Given the description of an element on the screen output the (x, y) to click on. 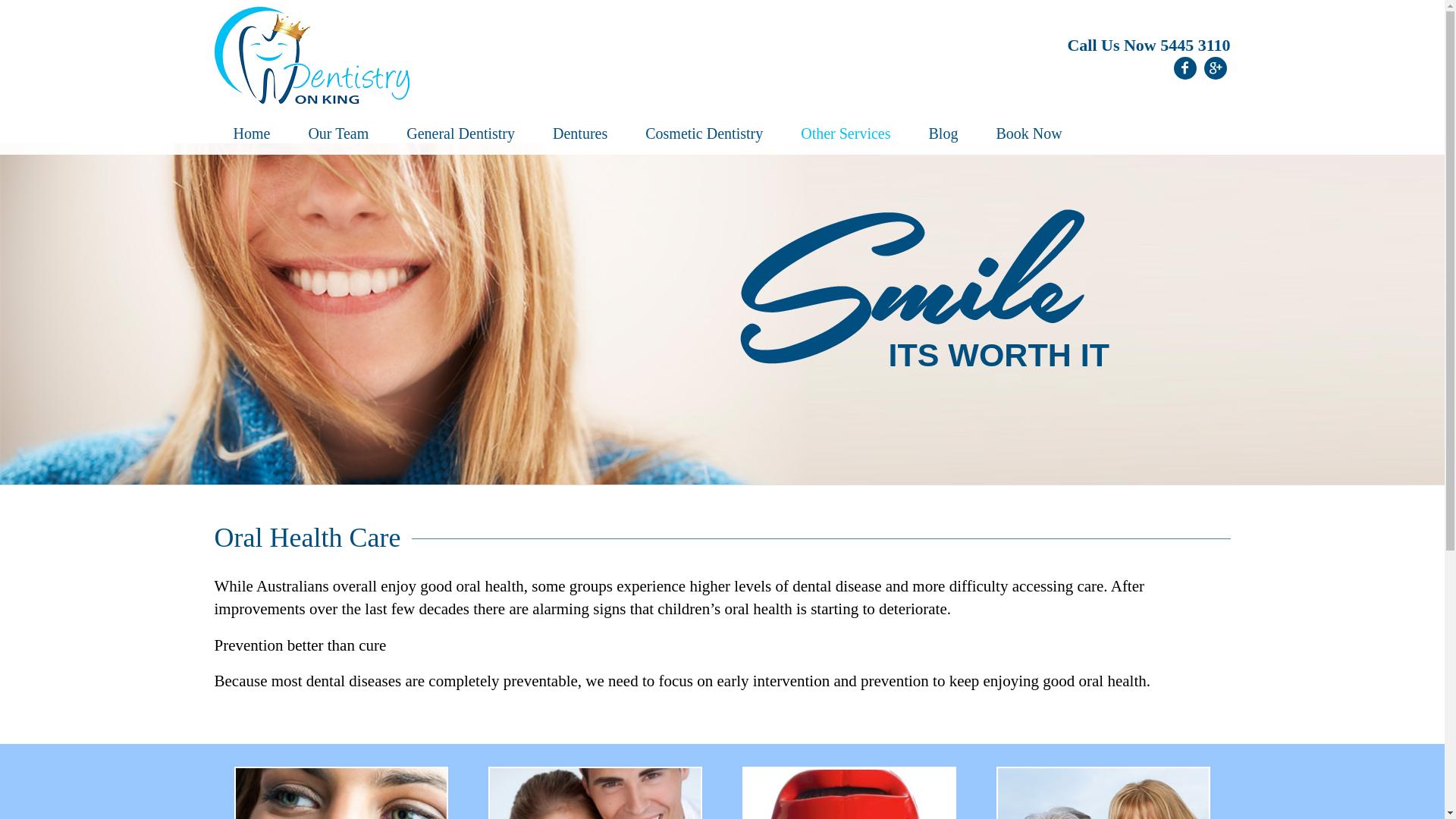
Book Now Element type: text (1028, 135)
General Dentistry Element type: text (460, 135)
Our Team Element type: text (338, 135)
Dentures Element type: text (579, 135)
Call Us Now 5445 3110 Element type: text (1148, 44)
Cosmetic Dentistry Element type: text (703, 135)
Other Services Element type: text (845, 135)
Gplus Element type: hover (1215, 67)
Blog Element type: text (942, 135)
Home Element type: text (250, 135)
Facebook Element type: hover (1184, 67)
